Given the description of an element on the screen output the (x, y) to click on. 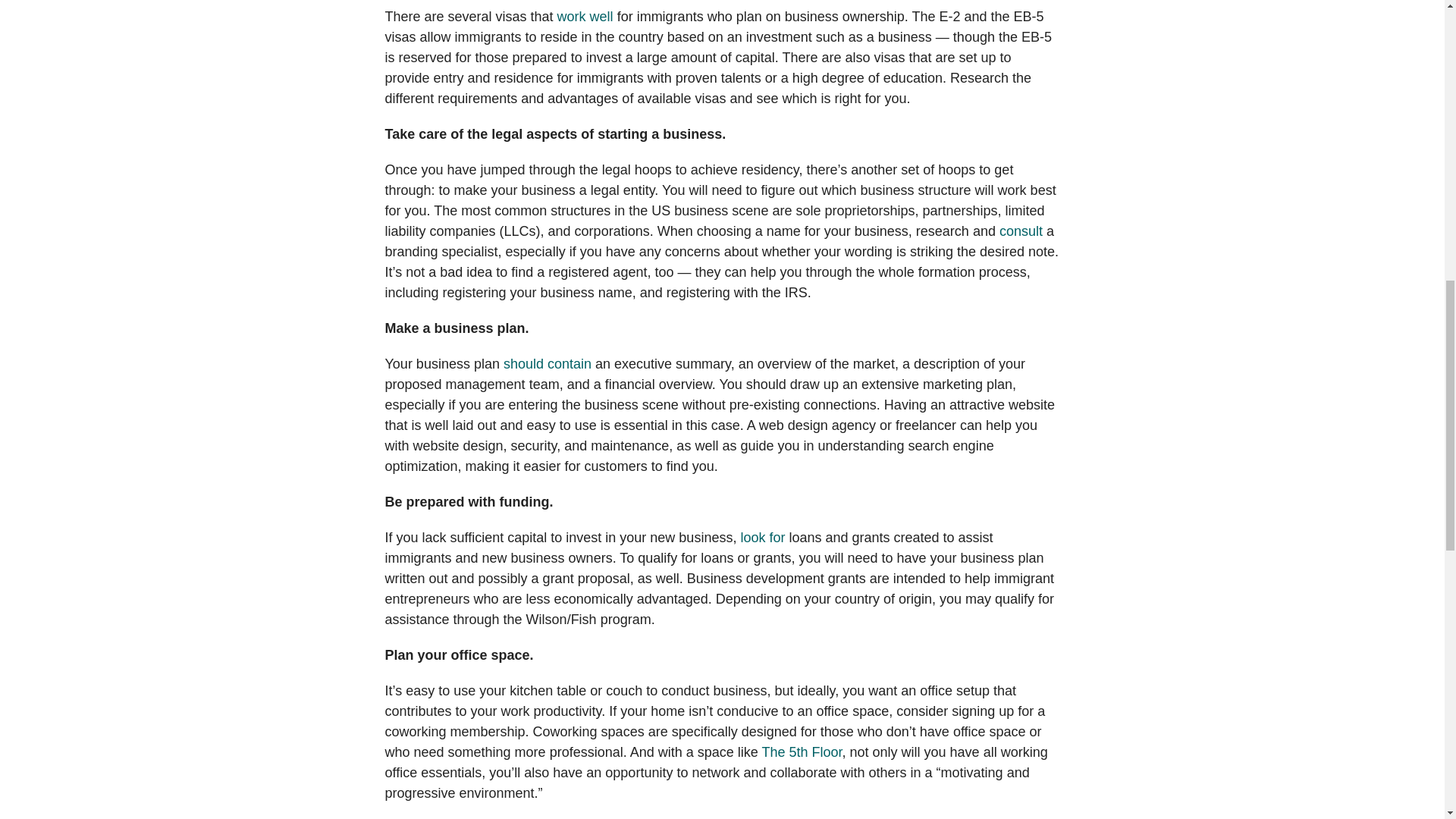
The 5th Floor (801, 752)
work well (584, 16)
look for (761, 537)
should contain (547, 363)
consult (1020, 231)
